Given the description of an element on the screen output the (x, y) to click on. 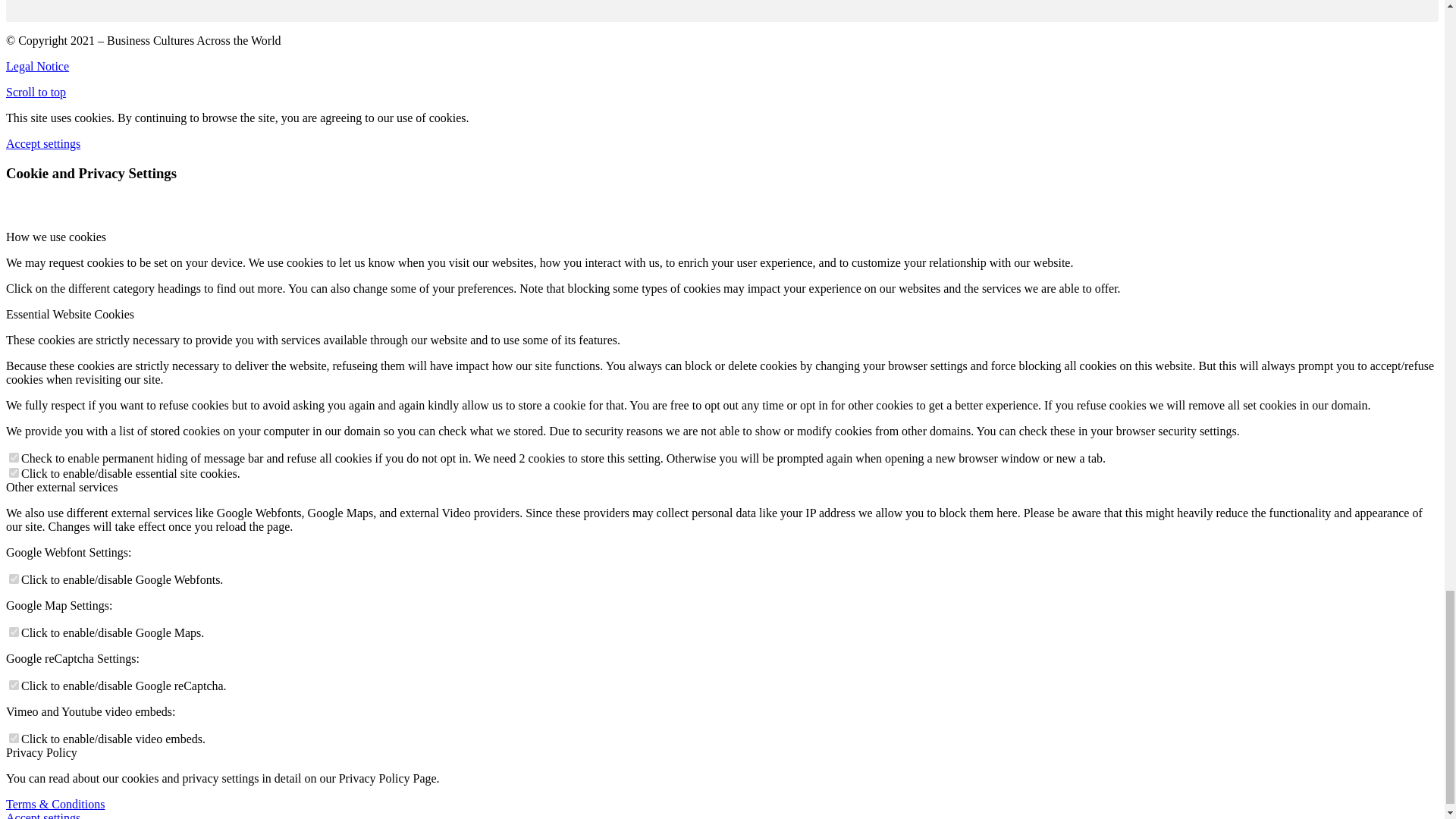
on (13, 457)
on (13, 737)
Legal Notice (36, 65)
on (13, 632)
on (13, 685)
on (13, 472)
Scroll to top (35, 91)
Scroll to top (35, 91)
Accept settings (42, 143)
on (13, 578)
